Given the description of an element on the screen output the (x, y) to click on. 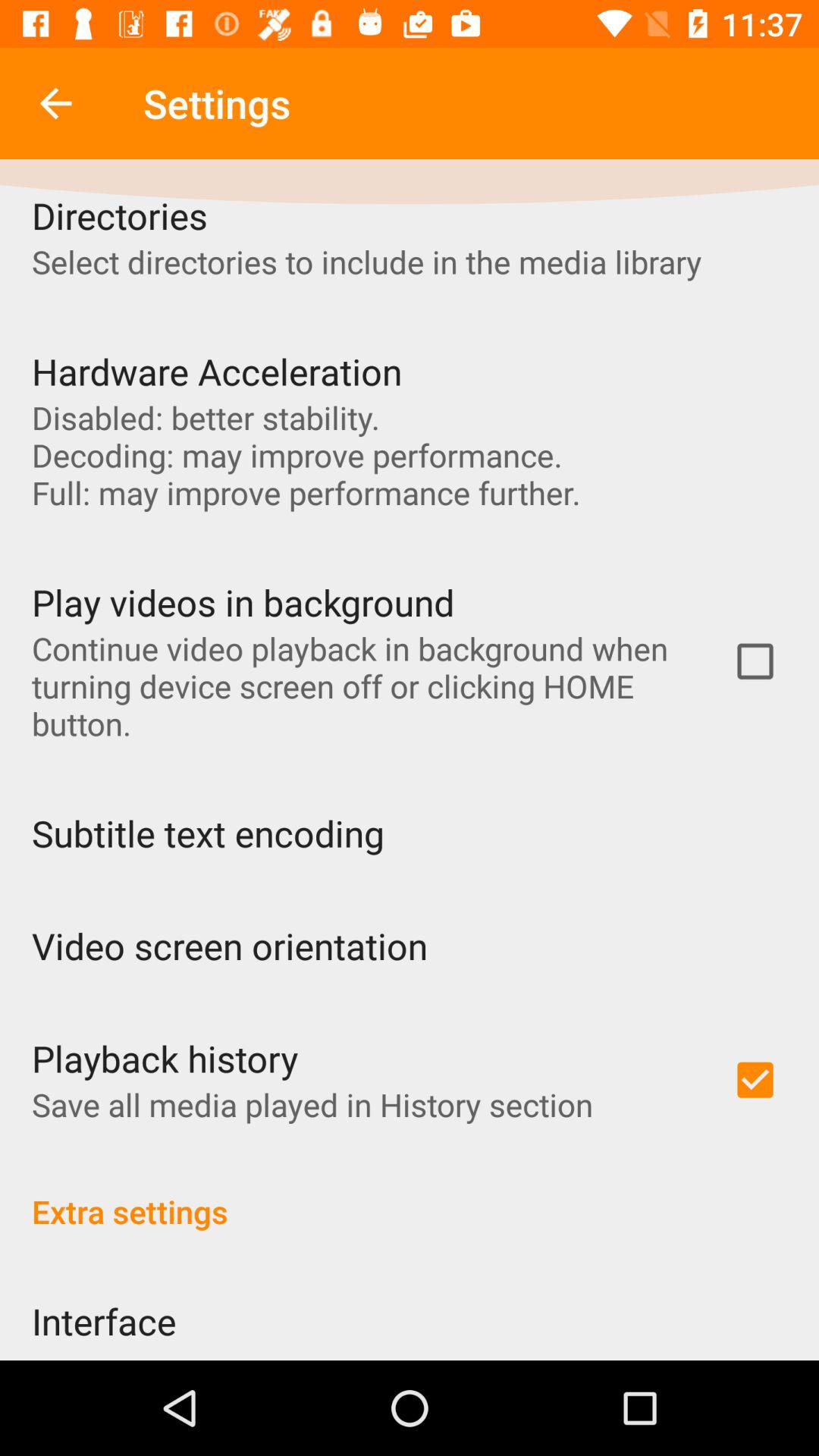
flip until the extra settings icon (409, 1195)
